Given the description of an element on the screen output the (x, y) to click on. 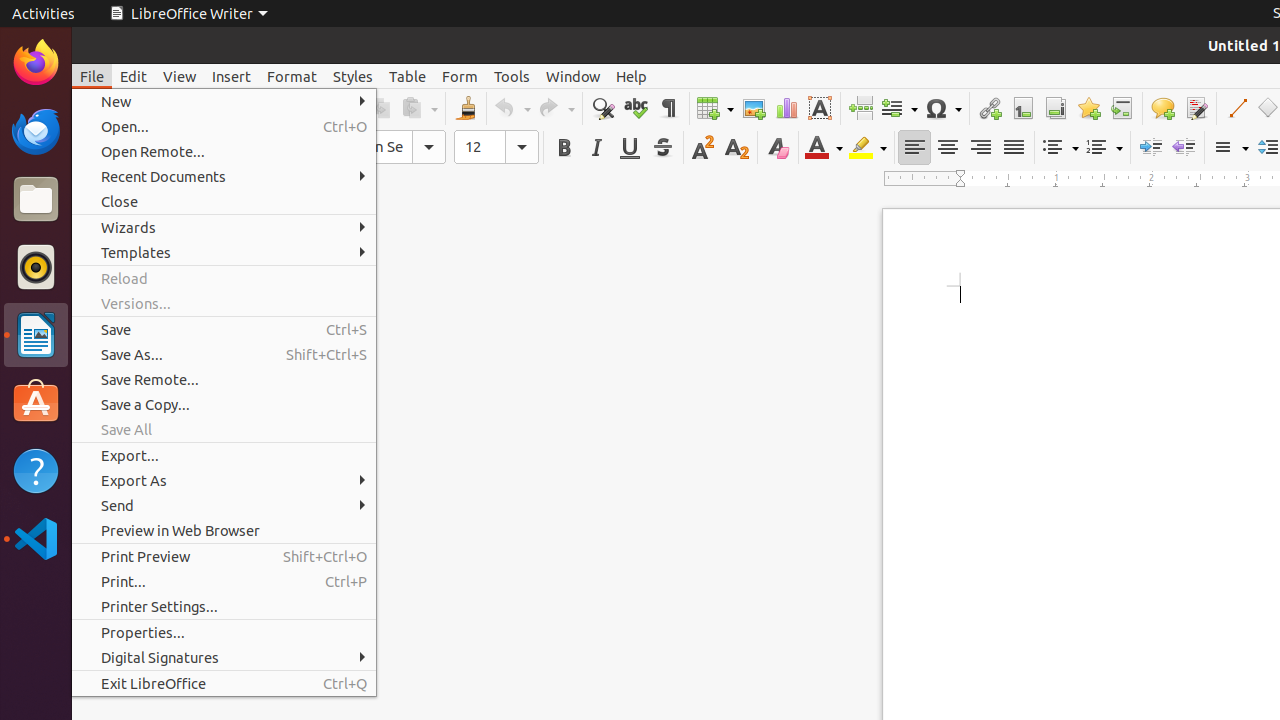
Formatting Marks Element type: toggle-button (668, 108)
Font Size Element type: combo-box (496, 147)
Clear Element type: push-button (777, 147)
Line Element type: toggle-button (1236, 108)
Open Remote... Element type: menu-item (224, 151)
